Given the description of an element on the screen output the (x, y) to click on. 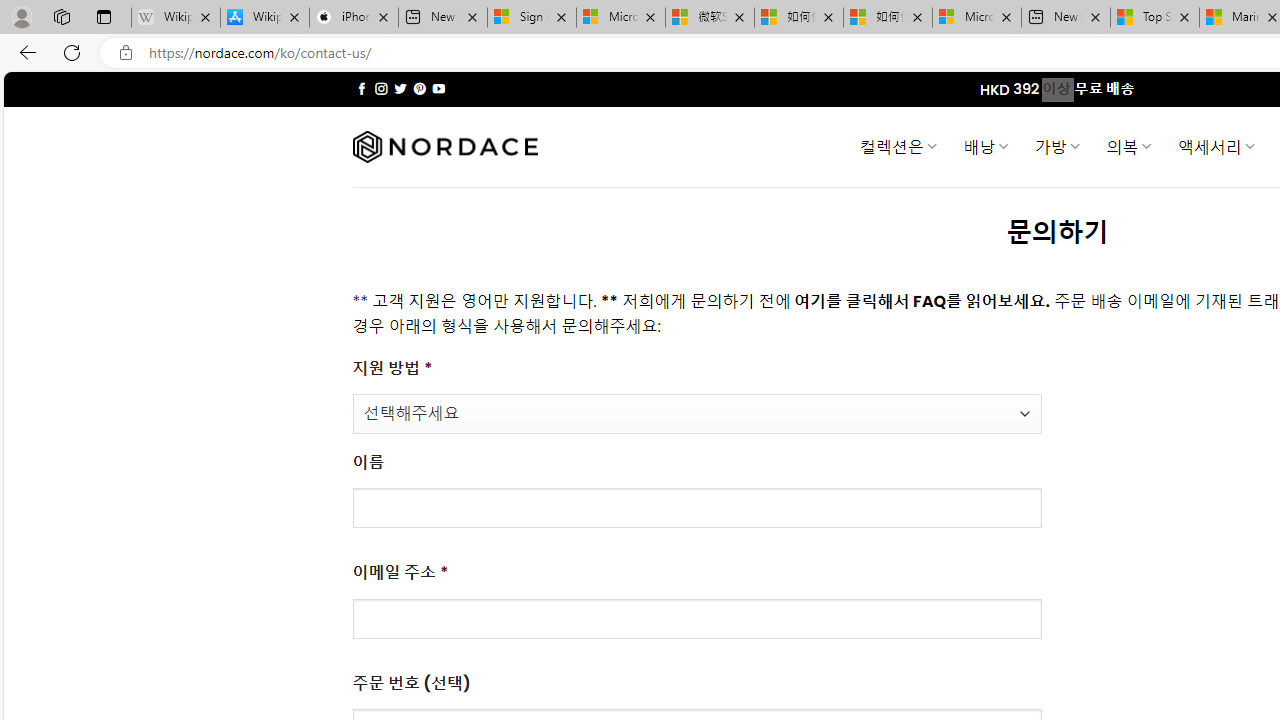
Microsoft account | Account Checkup (977, 17)
Follow on YouTube (438, 88)
Wikipedia - Sleeping (175, 17)
Microsoft Services Agreement (621, 17)
